Given the description of an element on the screen output the (x, y) to click on. 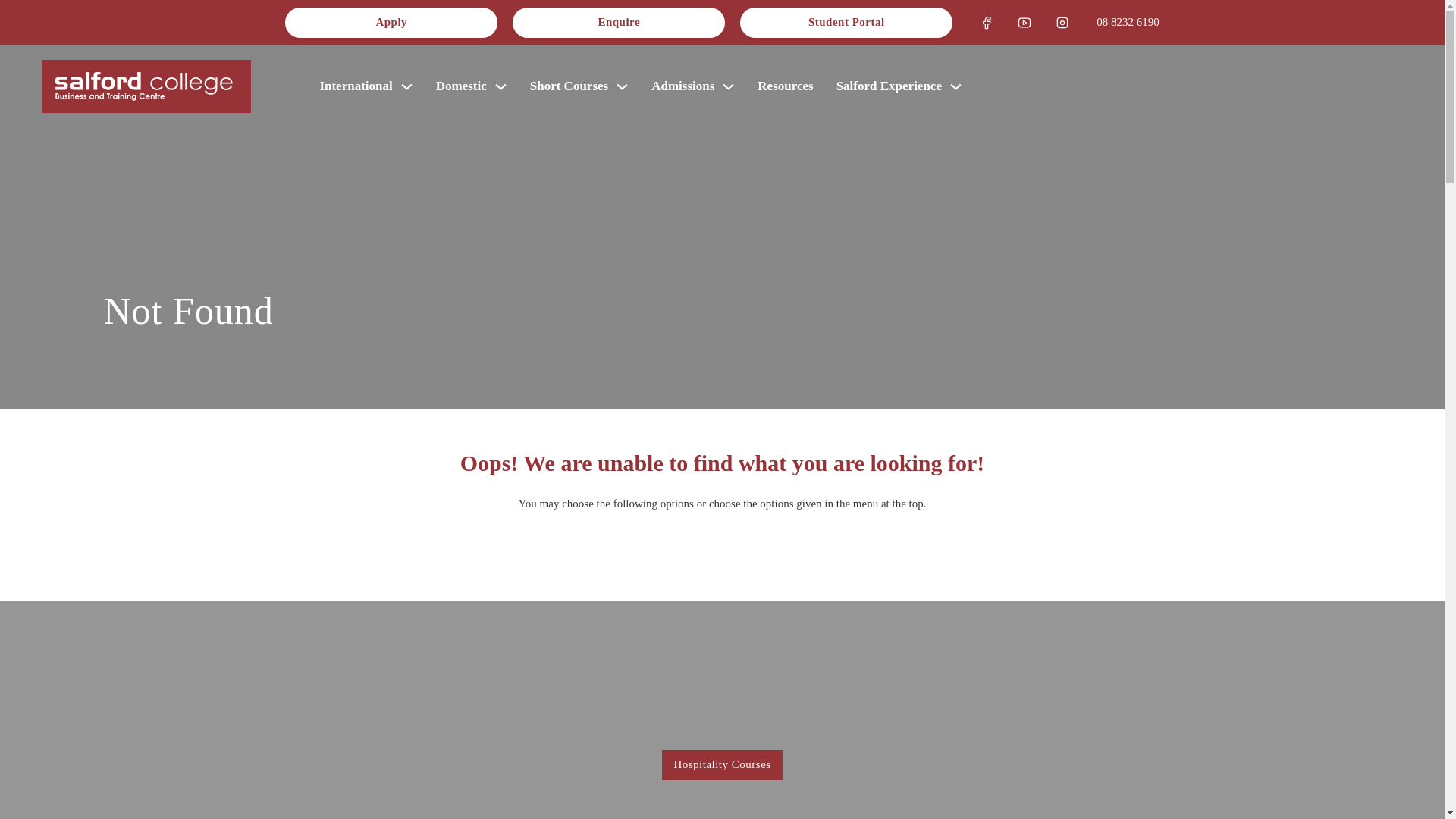
facebook page (987, 22)
Student Portal (845, 22)
Apply (391, 22)
phone number (1127, 22)
Student portal (845, 22)
youtube channel (1024, 22)
Apply Now (391, 22)
instagram page (1062, 22)
International (354, 86)
08 8232 6190 (1127, 22)
